Given the description of an element on the screen output the (x, y) to click on. 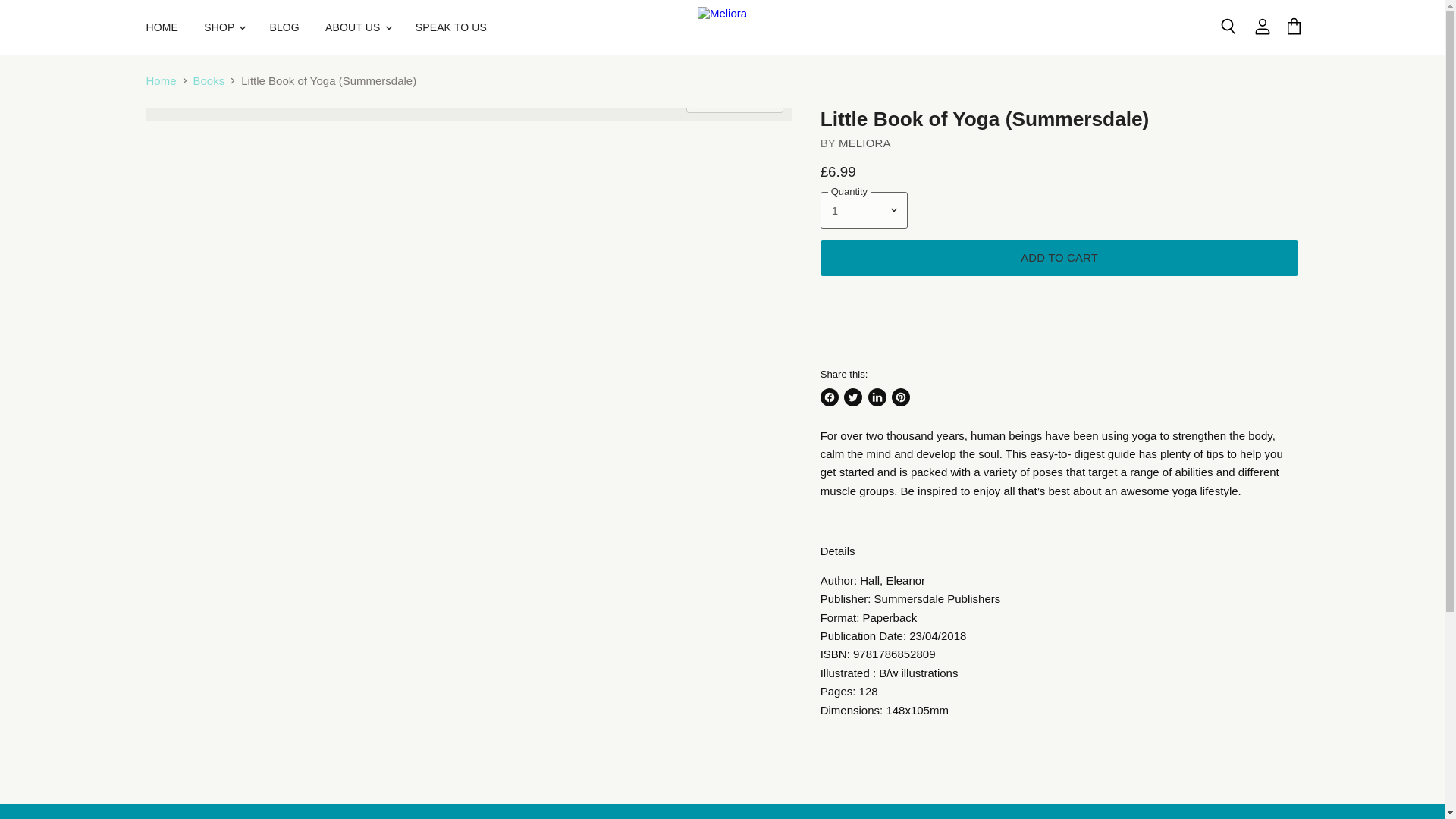
SHOP (223, 27)
View cart (1293, 27)
View account (1262, 27)
SPEAK TO US (450, 27)
Page 1 (1059, 615)
ABOUT US (357, 27)
Search (1227, 27)
Meliora (864, 142)
HOME (162, 27)
BLOG (283, 27)
